Given the description of an element on the screen output the (x, y) to click on. 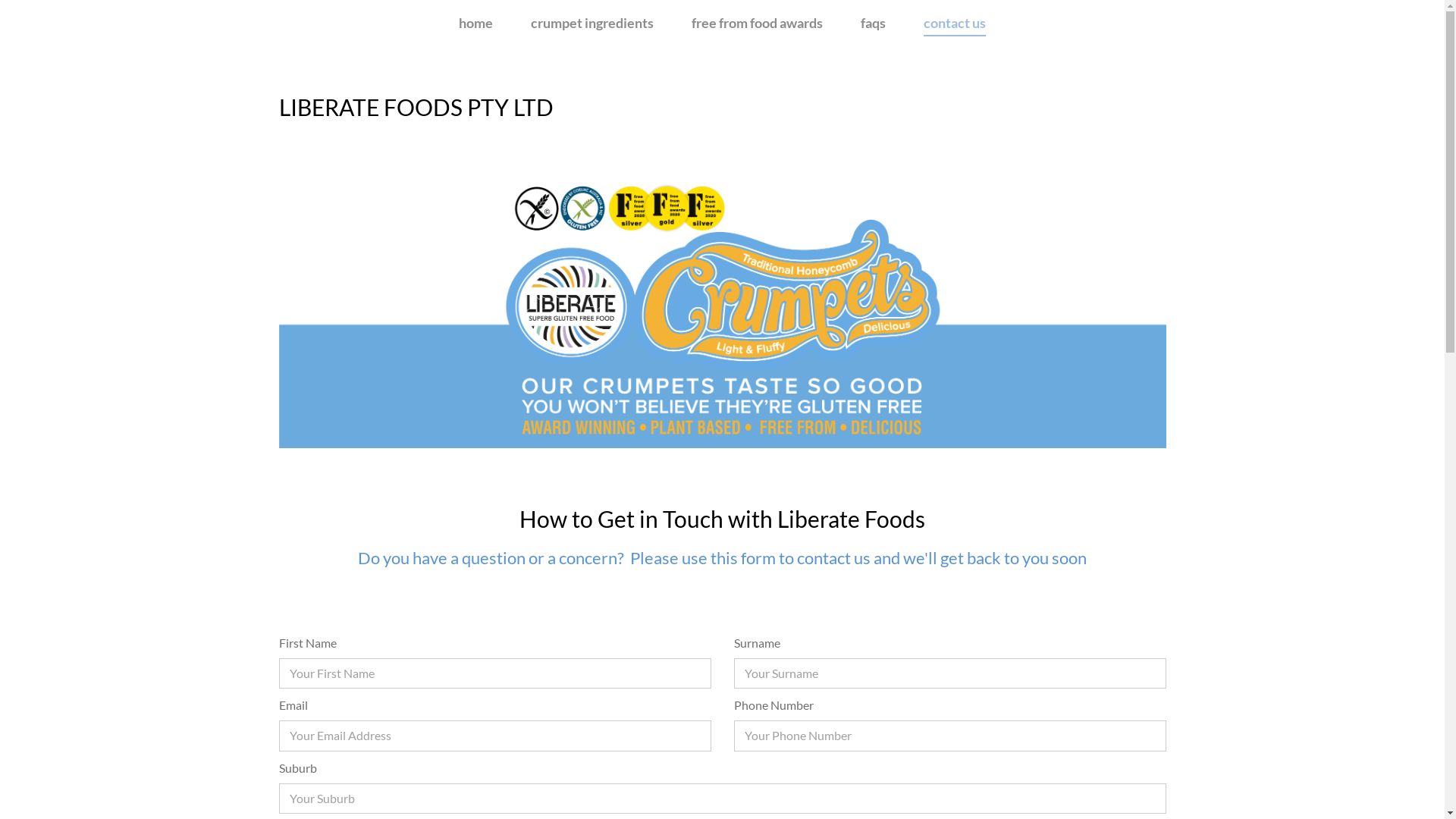
free from food awards Element type: text (756, 22)
home Element type: text (475, 22)
crumpet ingredients Element type: text (591, 22)
faqs Element type: text (872, 22)
contact us Element type: text (954, 22)
